Given the description of an element on the screen output the (x, y) to click on. 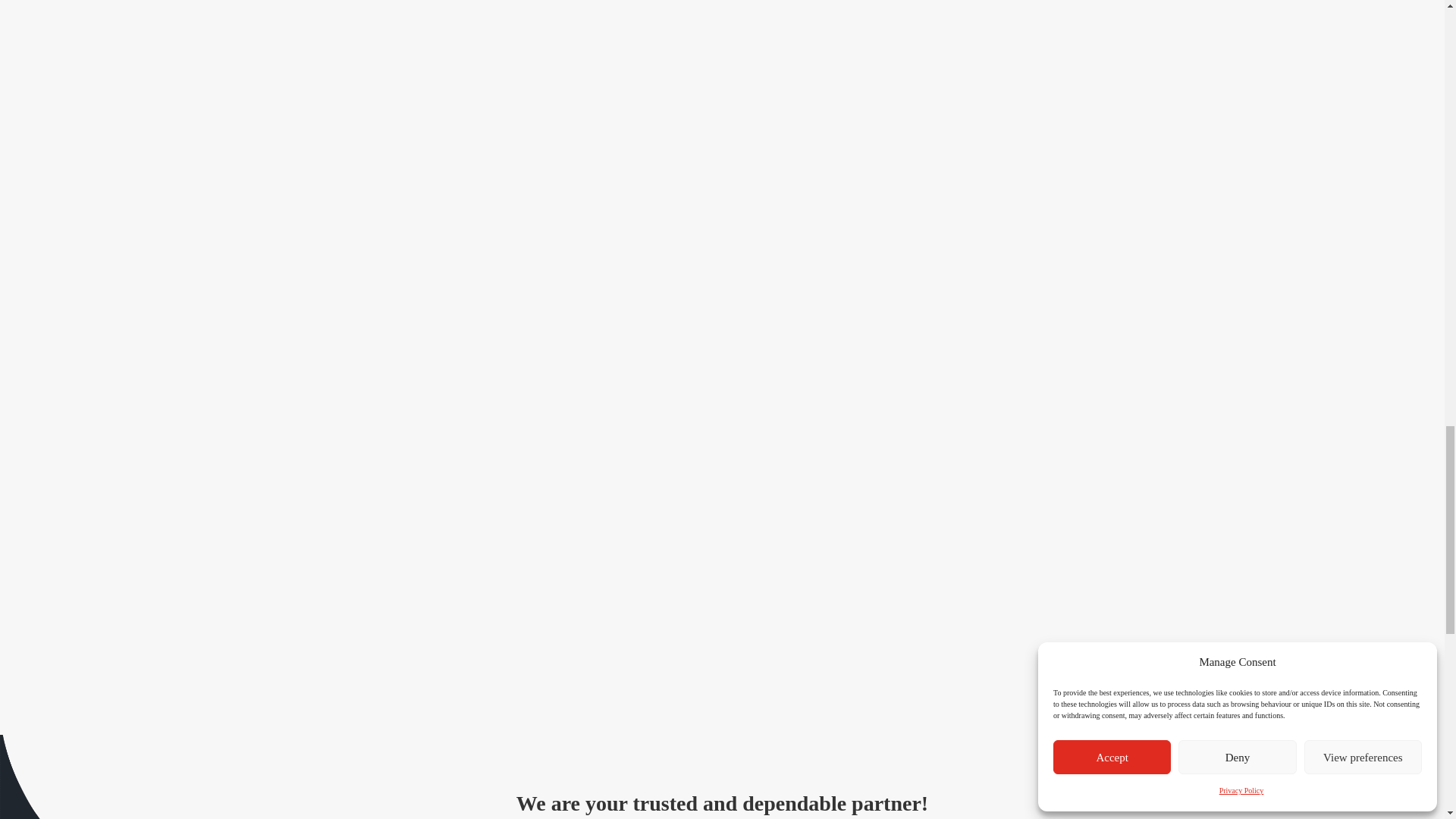
wpforms-submit (1046, 632)
